Given the description of an element on the screen output the (x, y) to click on. 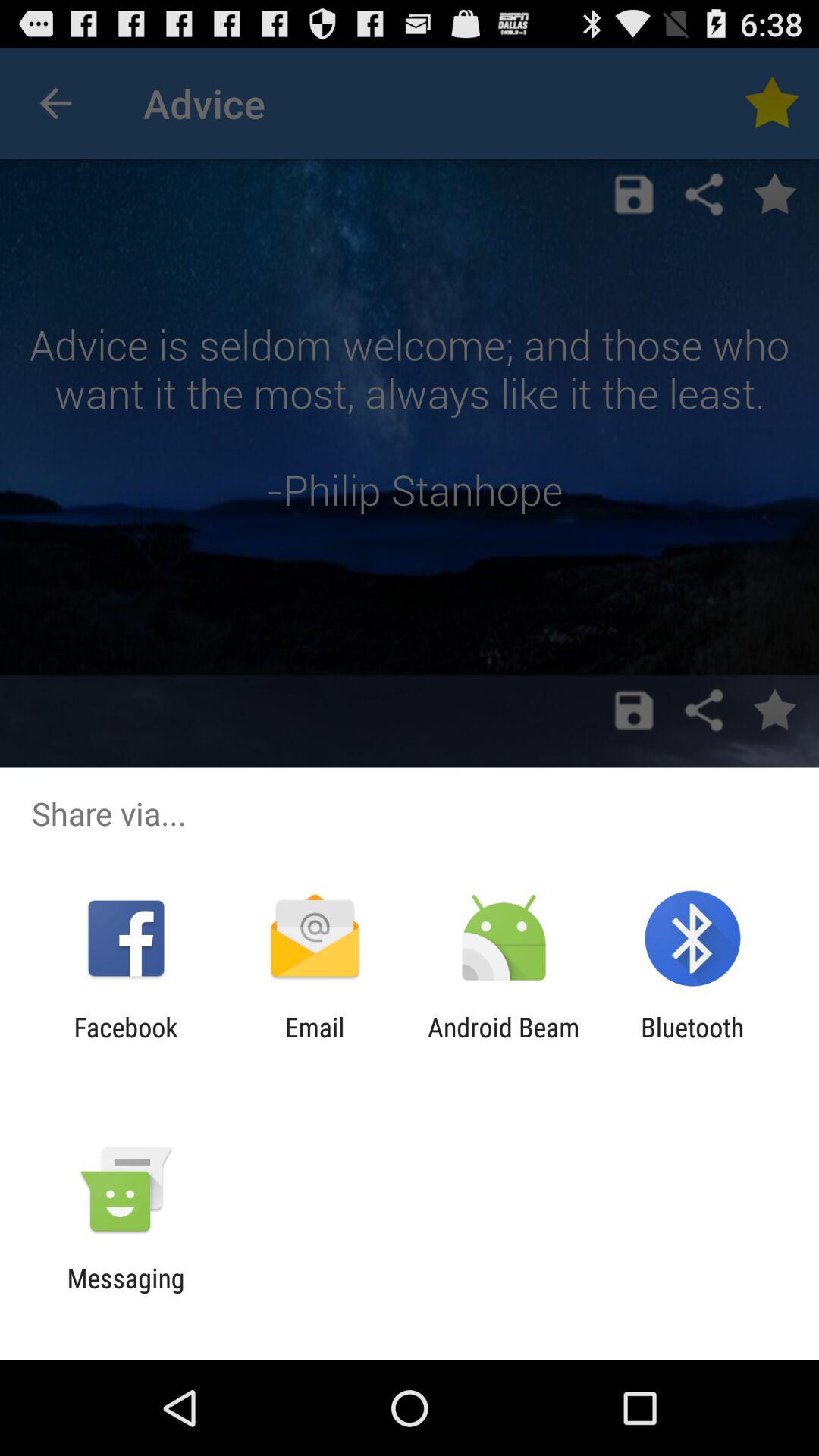
swipe until messaging (125, 1293)
